Given the description of an element on the screen output the (x, y) to click on. 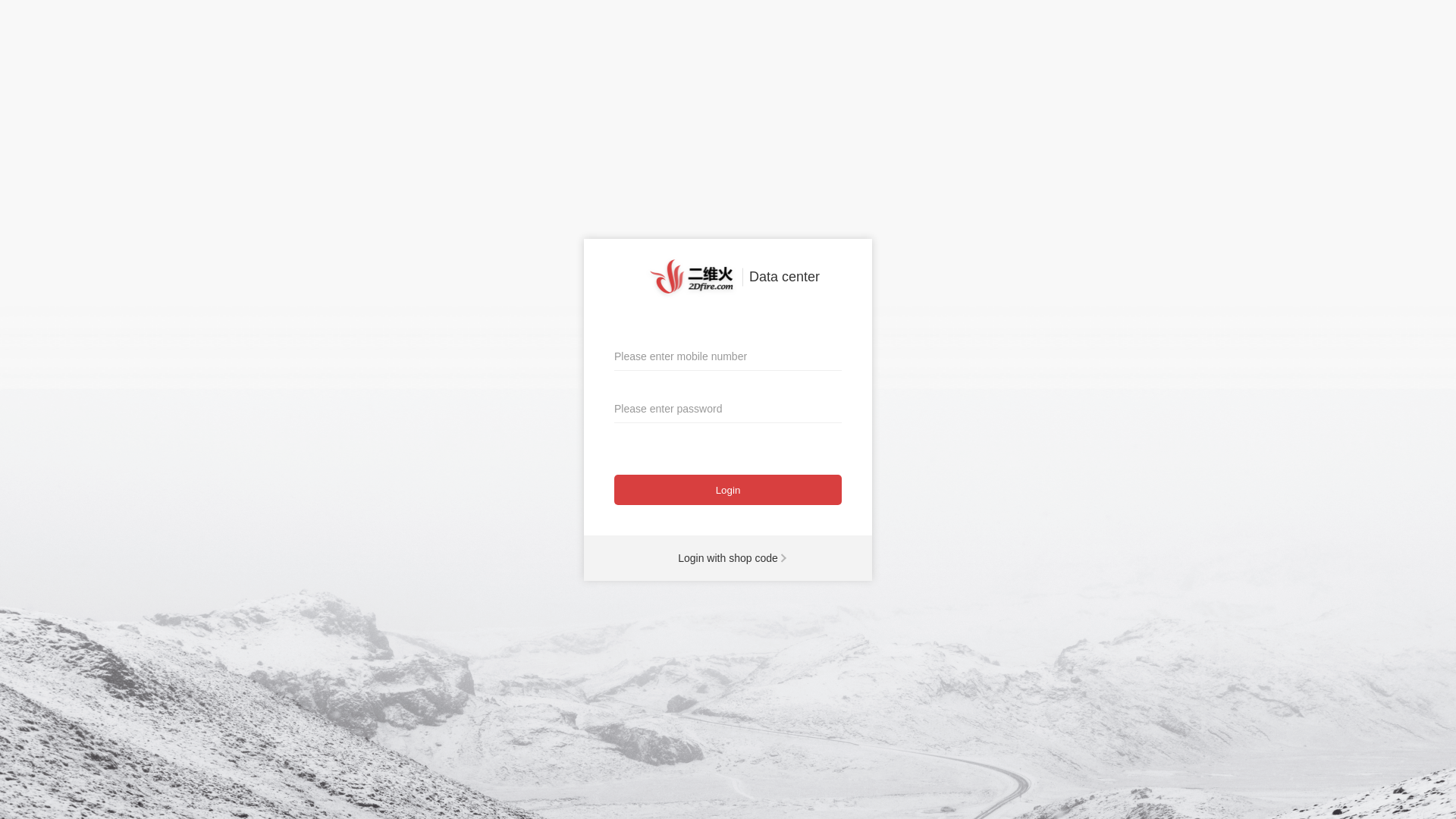
Login Element type: text (727, 489)
